Given the description of an element on the screen output the (x, y) to click on. 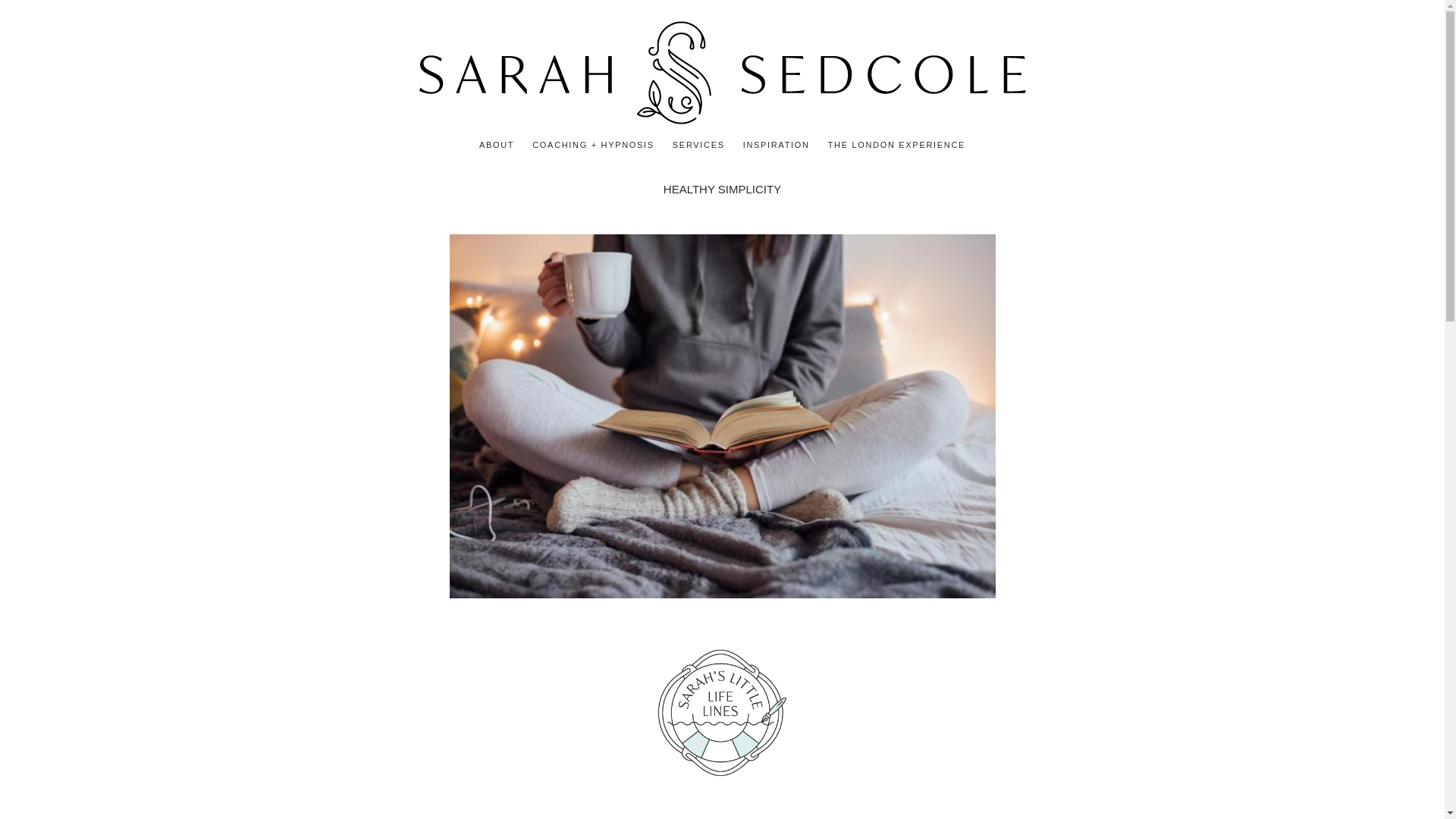
ABOUT (496, 144)
SERVICES (698, 144)
THE LONDON EXPERIENCE (896, 144)
INSPIRATION (775, 144)
